Given the description of an element on the screen output the (x, y) to click on. 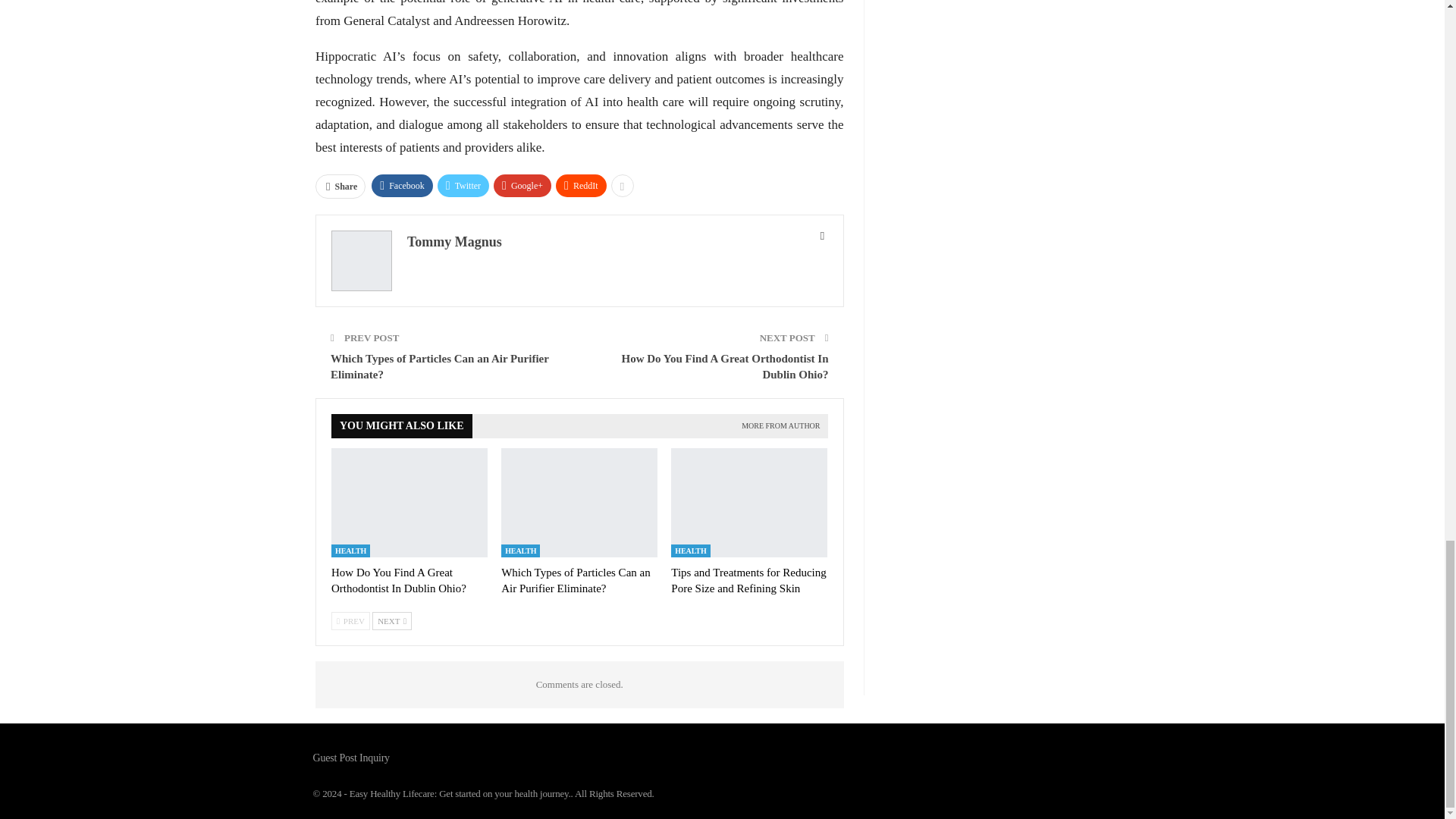
Next (392, 620)
Tips and Treatments for Reducing Pore Size and Refining Skin (748, 580)
Tips and Treatments for Reducing Pore Size and Refining Skin (749, 502)
Which Types of Particles Can an Air Purifier Eliminate? (575, 580)
Which Types of Particles Can an Air Purifier Eliminate? (579, 502)
Previous (350, 620)
How Do You Find A Great Orthodontist In Dublin Ohio? (409, 502)
How Do You Find A Great Orthodontist In Dublin Ohio? (398, 580)
